Given the description of an element on the screen output the (x, y) to click on. 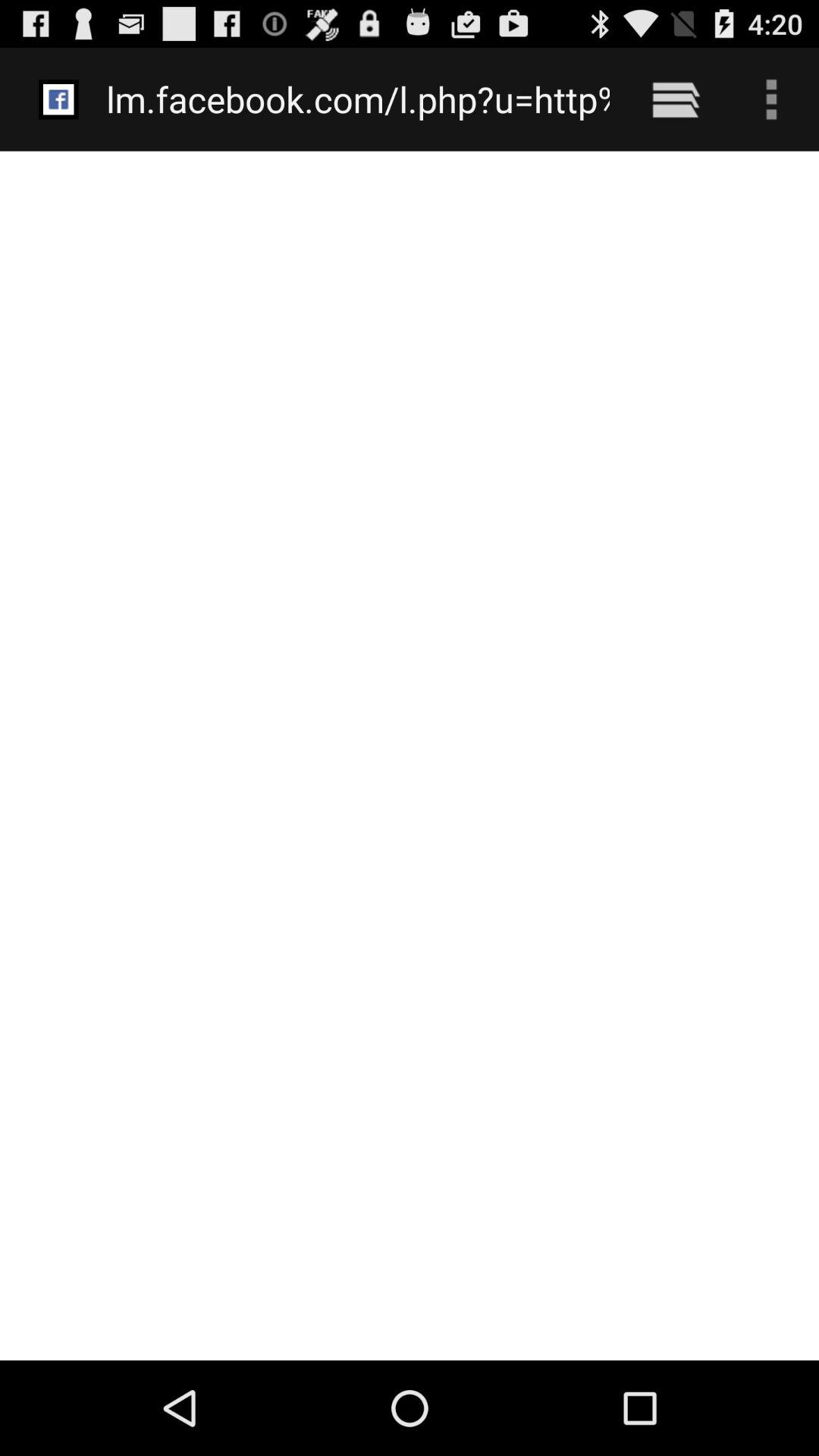
press the item below the lm facebook com item (409, 755)
